Given the description of an element on the screen output the (x, y) to click on. 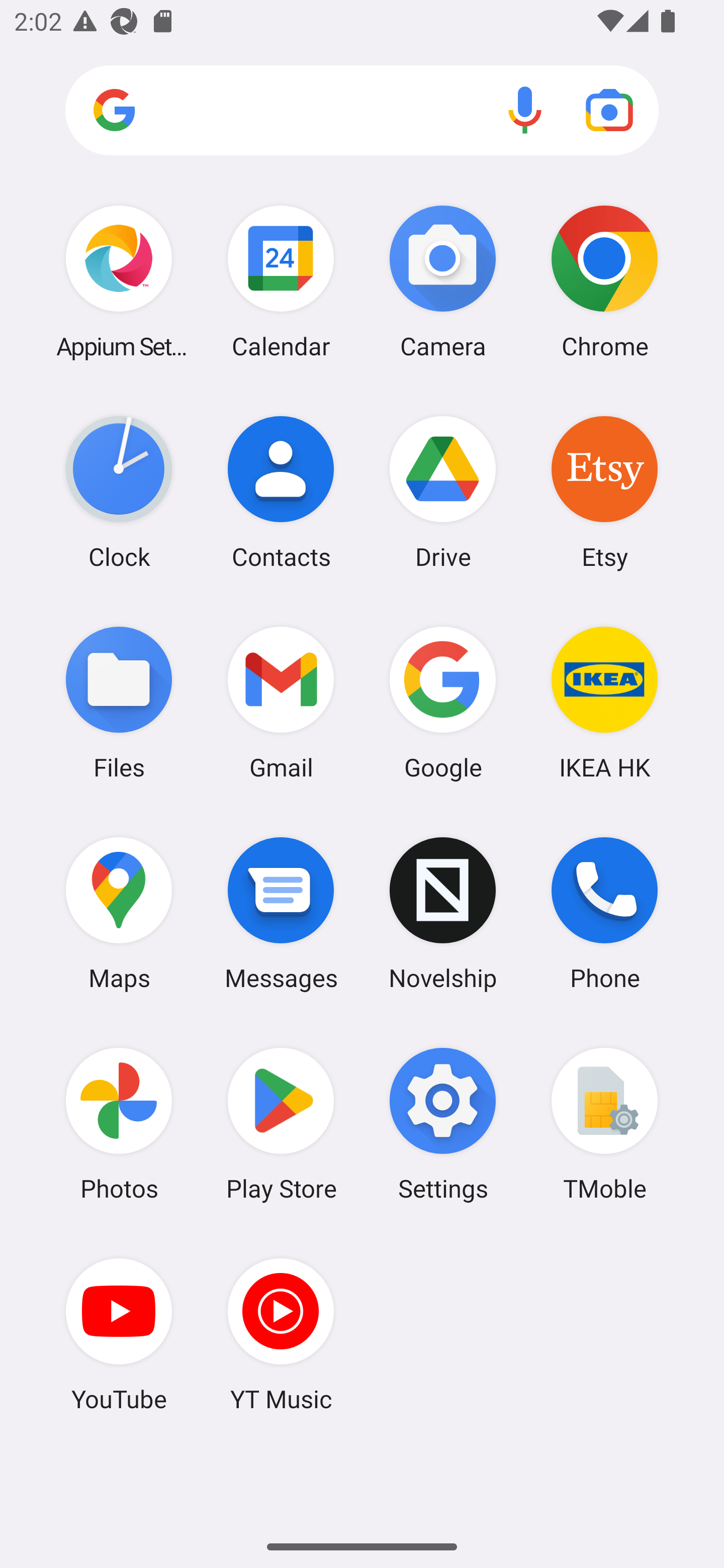
Search apps, web and more (361, 110)
Voice search (524, 109)
Google Lens (608, 109)
Appium Settings (118, 281)
Calendar (280, 281)
Camera (443, 281)
Chrome (604, 281)
Clock (118, 492)
Contacts (280, 492)
Drive (443, 492)
Etsy (604, 492)
Files (118, 702)
Gmail (280, 702)
Google (443, 702)
IKEA HK (604, 702)
Maps (118, 913)
Messages (280, 913)
Novelship (443, 913)
Phone (604, 913)
Photos (118, 1124)
Play Store (280, 1124)
Settings (443, 1124)
TMoble (604, 1124)
YouTube (118, 1334)
YT Music (280, 1334)
